Given the description of an element on the screen output the (x, y) to click on. 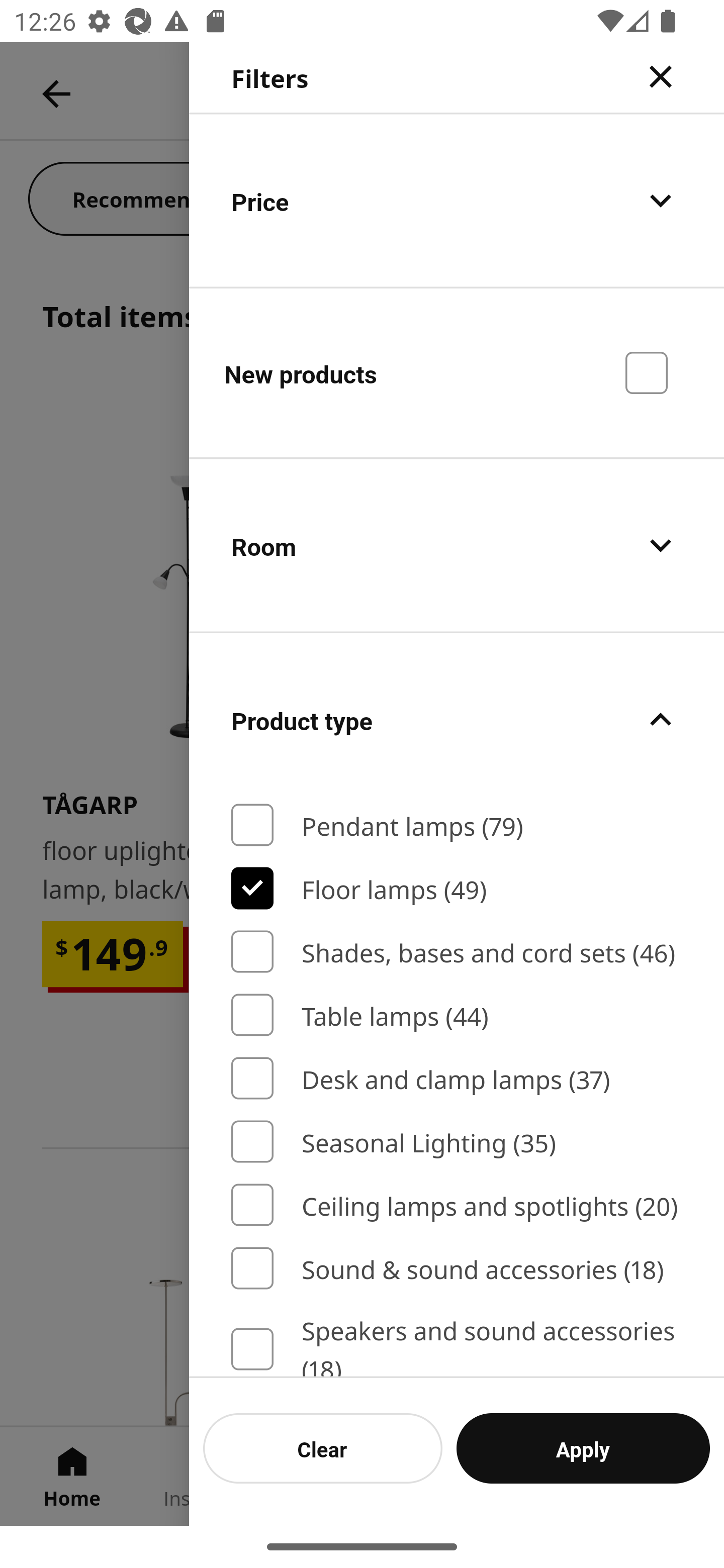
Price (456, 200)
New products (456, 371)
Room (456, 545)
Product type (456, 719)
Pendant lamps (79) (456, 825)
Floor lamps (49) (456, 888)
Shades, bases and cord sets (46) (456, 952)
Table lamps (44) (456, 1015)
Desk and clamp lamps (37) (456, 1077)
Seasonal Lighting (35) (456, 1142)
Ceiling lamps and spotlights (20) (456, 1204)
Sound & sound accessories (18) (456, 1268)
Speakers and sound accessories (18) (456, 1343)
Clear (322, 1447)
Apply (583, 1447)
